Given the description of an element on the screen output the (x, y) to click on. 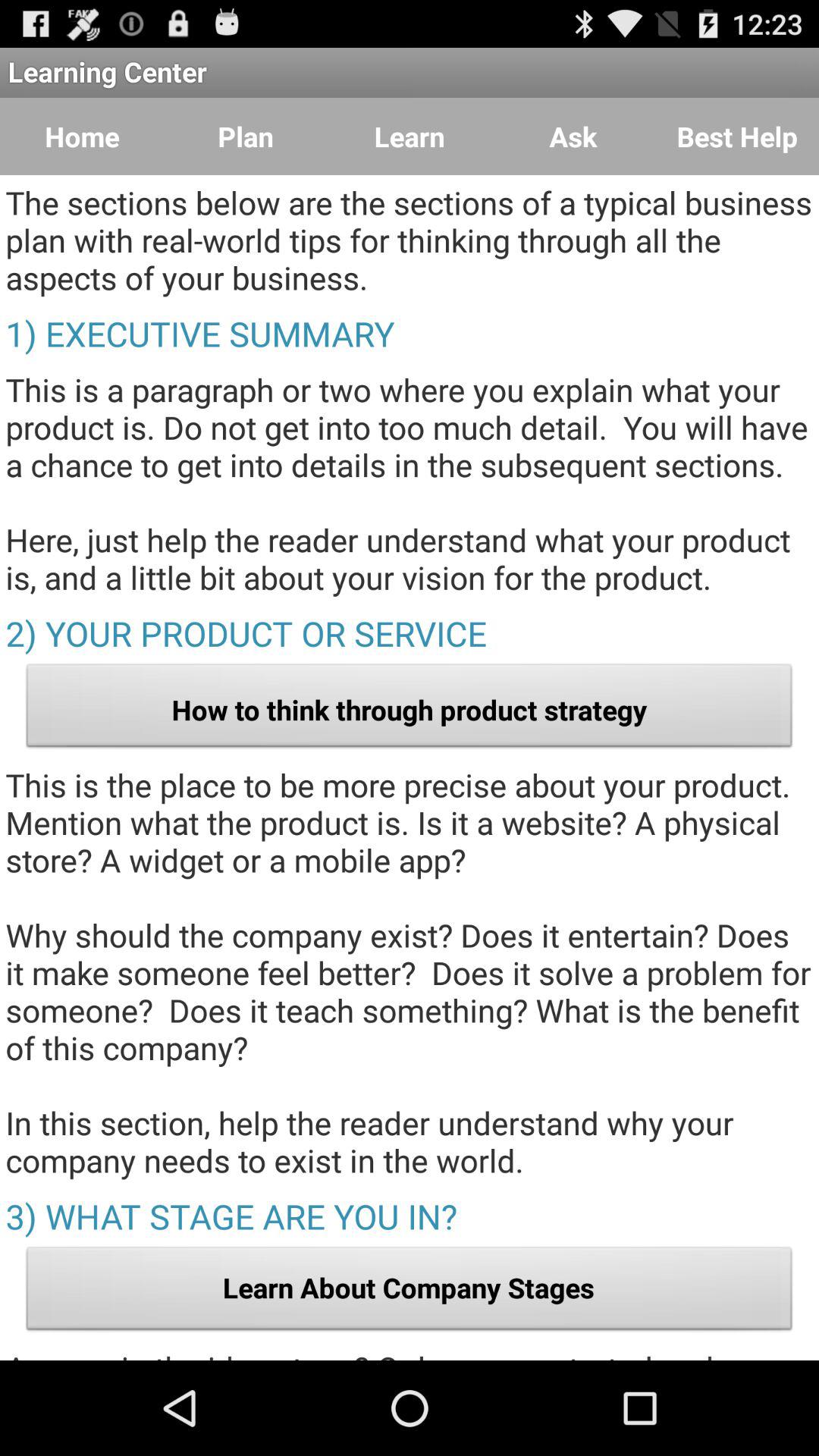
tap ask item (573, 136)
